Given the description of an element on the screen output the (x, y) to click on. 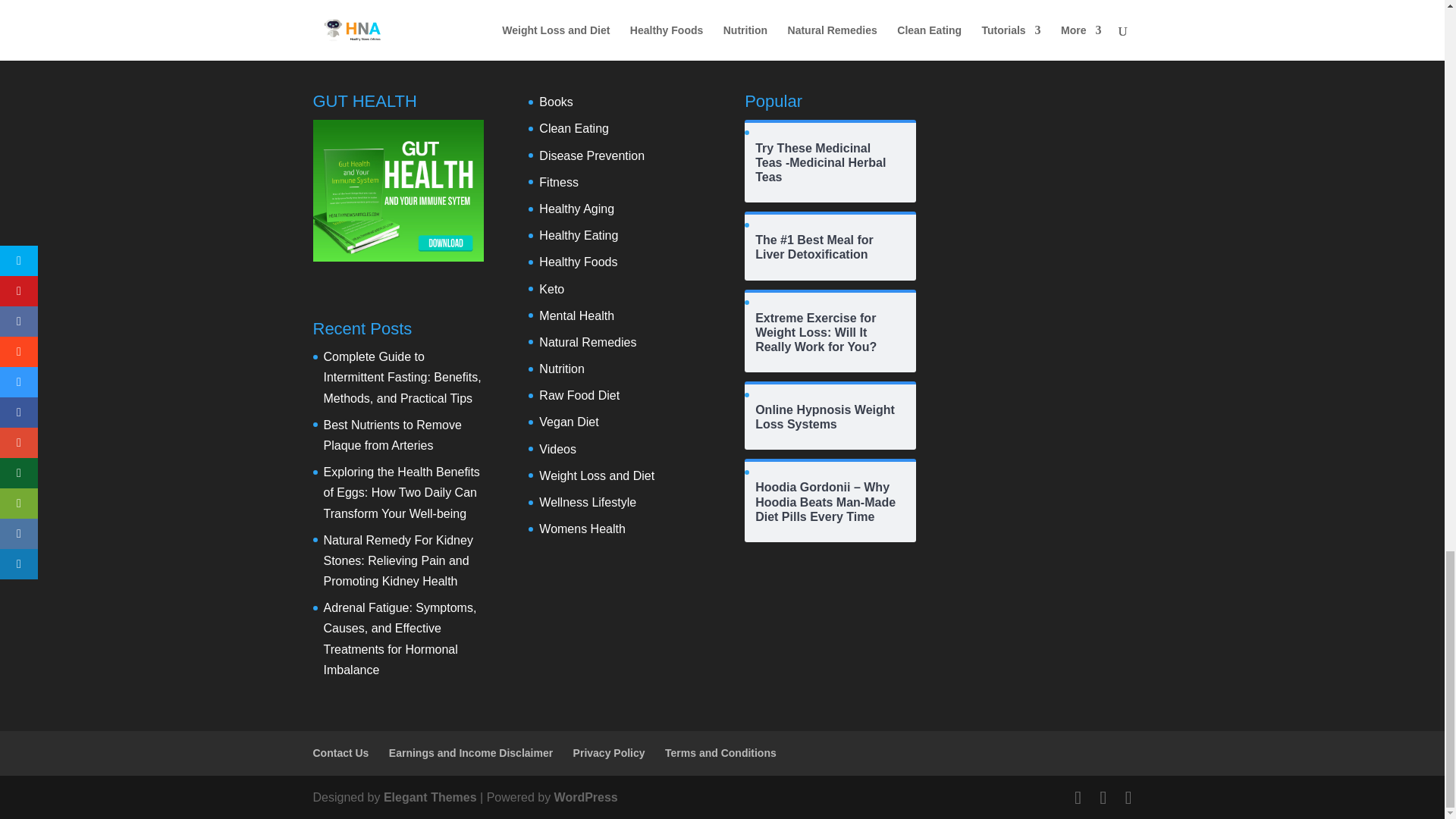
Premium WordPress Themes (430, 797)
Best Nutrients to Remove Plaque from Arteries (392, 435)
Books (555, 101)
Disease Prevention (591, 155)
Clean Eating (573, 128)
